Given the description of an element on the screen output the (x, y) to click on. 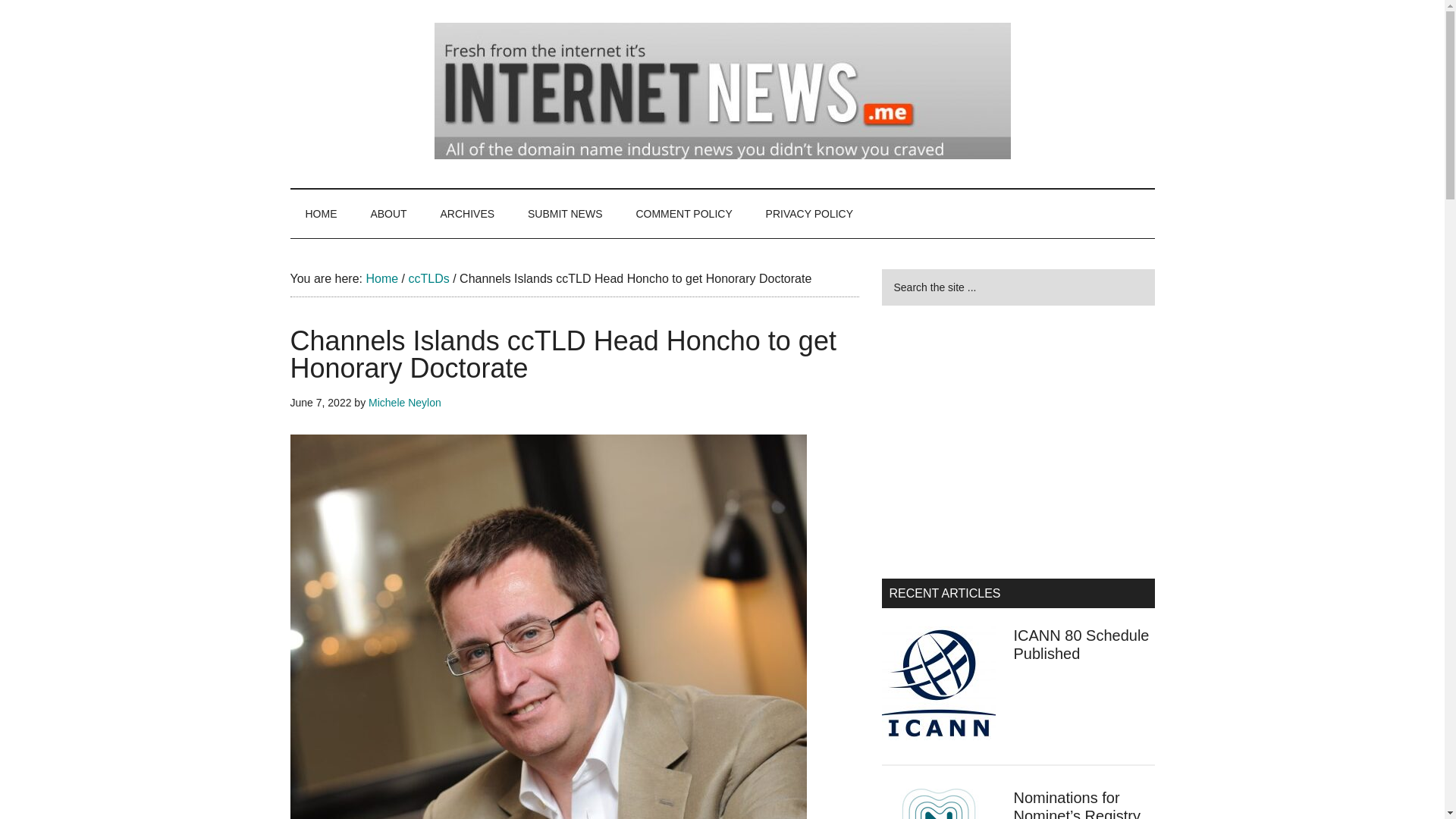
ABOUT (388, 213)
SUBMIT NEWS (564, 213)
Michele Neylon (404, 402)
Home (381, 278)
HOME (320, 213)
ccTLDs (427, 278)
COMMENT POLICY (683, 213)
ARCHIVES (468, 213)
PRIVACY POLICY (809, 213)
ICANN 80 Schedule Published (1080, 644)
Advertisement (1017, 441)
